Given the description of an element on the screen output the (x, y) to click on. 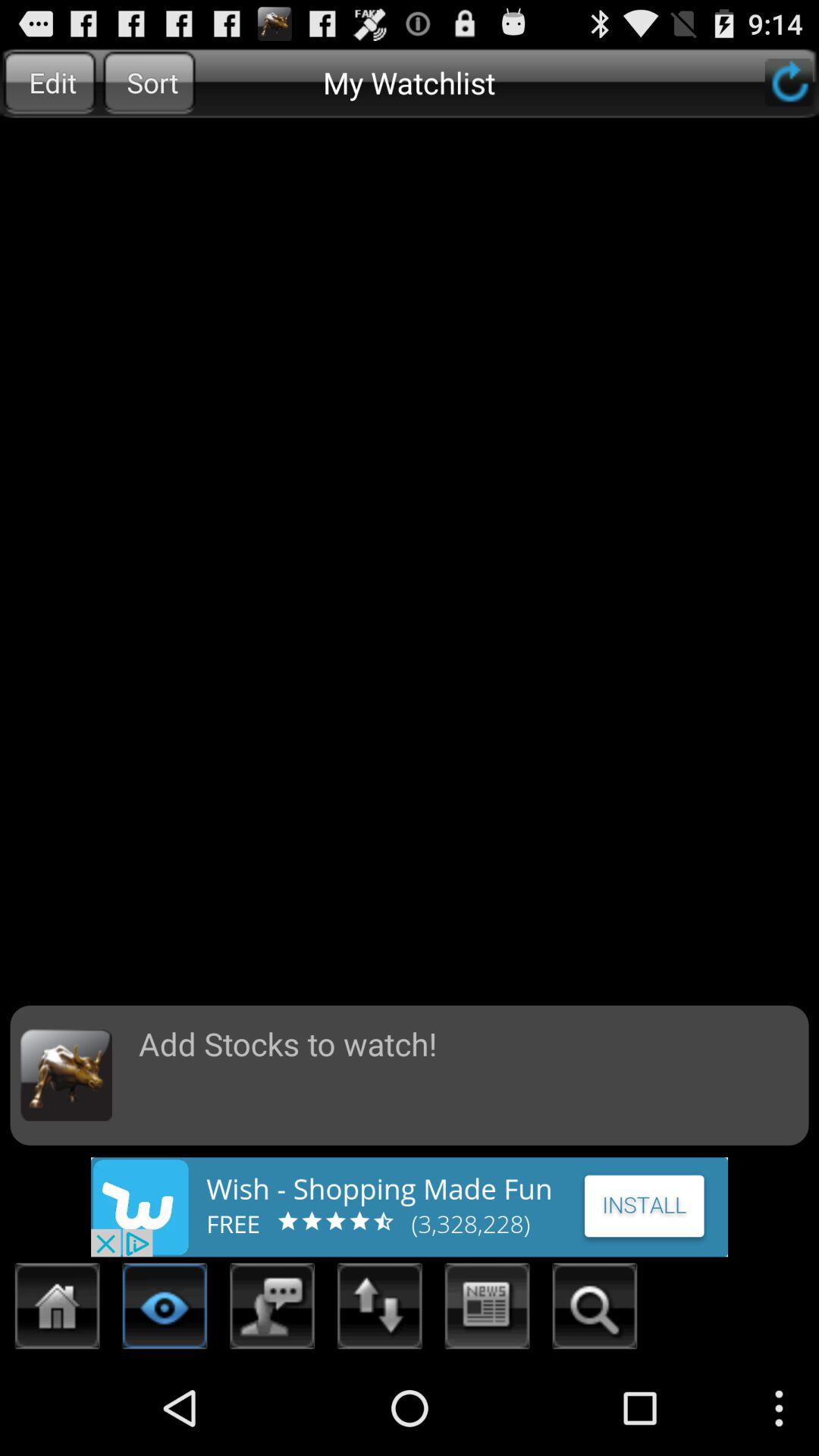
refresh the page (788, 82)
